Given the description of an element on the screen output the (x, y) to click on. 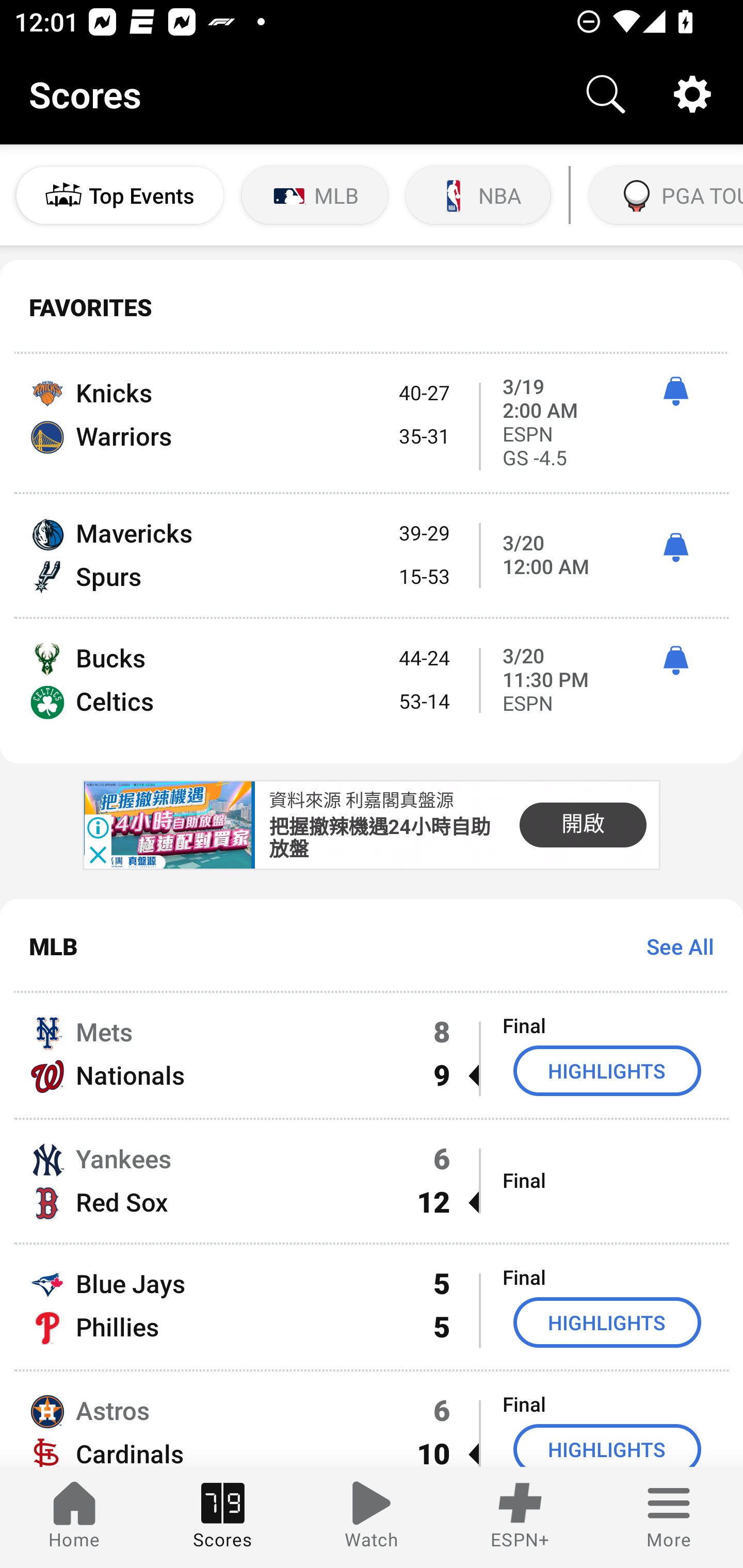
Search (605, 93)
Settings (692, 93)
 Top Events (119, 194)
MLB (314, 194)
NBA (477, 194)
PGA TOUR (664, 194)
FAVORITES (371, 307)
ì (675, 390)
Mavericks 39-29 Spurs 15-53 3/20 12:00 AM ì (371, 554)
ì (675, 547)
Bucks 44-24 Celtics 53-14 3/20 11:30 PM ì ESPN (371, 691)
ì (675, 660)
資料來源 利嘉閣真盤源 (361, 800)
開啟 (582, 824)
把握撤辣機遇24小時自助 放盤 把握撤辣機遇24小時自助 放盤 (379, 838)
MLB See All (371, 945)
See All (673, 946)
Mets 8 Final Nationals 9  HIGHLIGHTS (371, 1054)
HIGHLIGHTS (607, 1070)
Yankees 6 Red Sox 12  Final (371, 1180)
Blue Jays 5 Final Phillies 5 HIGHLIGHTS (371, 1306)
HIGHLIGHTS (607, 1322)
Astros 6 Final Cardinals 10  HIGHLIGHTS (371, 1419)
HIGHLIGHTS (607, 1445)
Home (74, 1517)
Watch (371, 1517)
ESPN+ (519, 1517)
More (668, 1517)
